Given the description of an element on the screen output the (x, y) to click on. 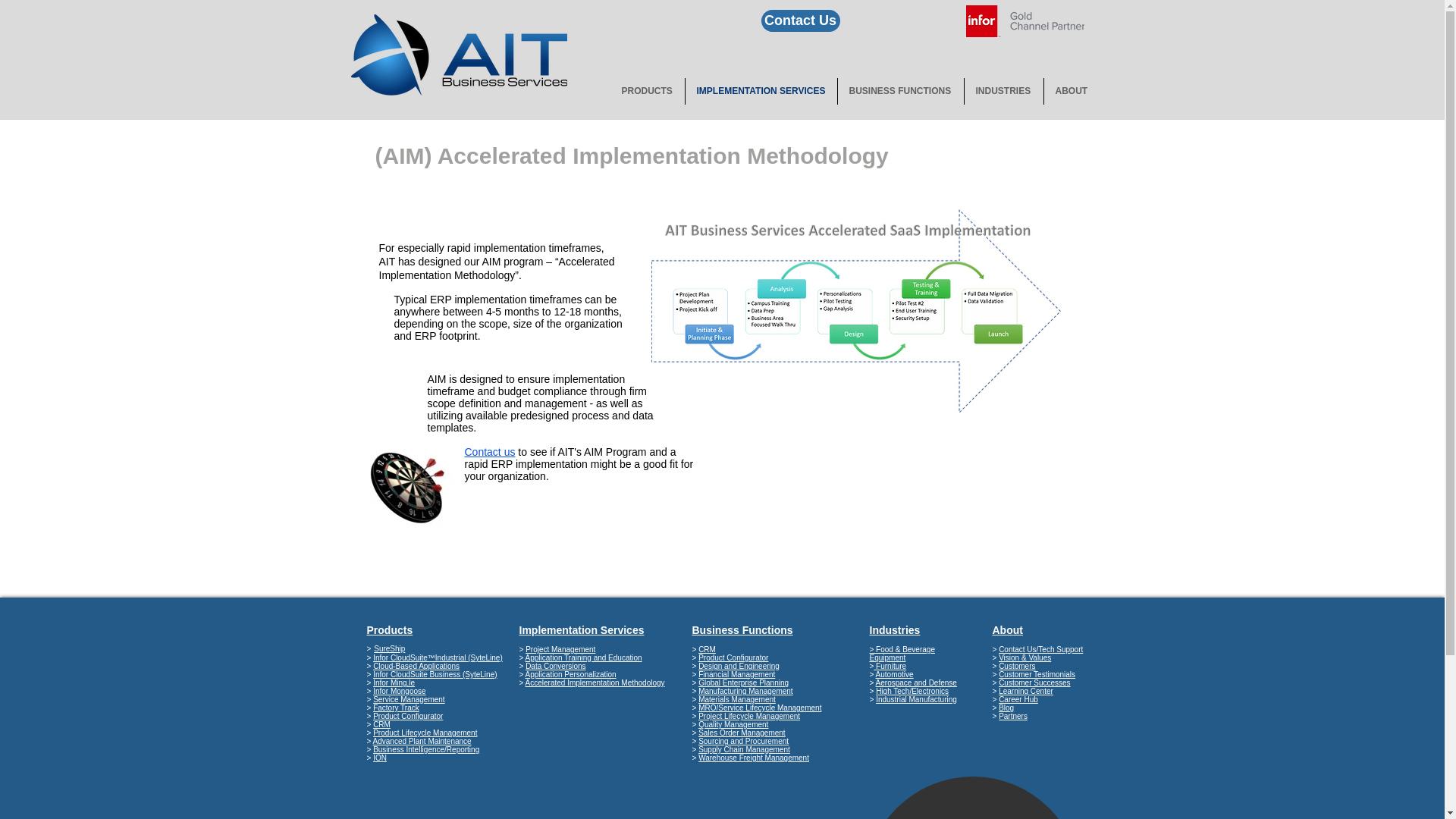
IMPLEMENTATION SERVICES (761, 90)
Twitter Tweet (870, 21)
PRODUCTS (647, 90)
BUSINESS FUNCTIONS (899, 90)
Contact Us (800, 20)
Facebook Like (934, 21)
Site Search (1007, 54)
INDUSTRIES (1003, 90)
